Given the description of an element on the screen output the (x, y) to click on. 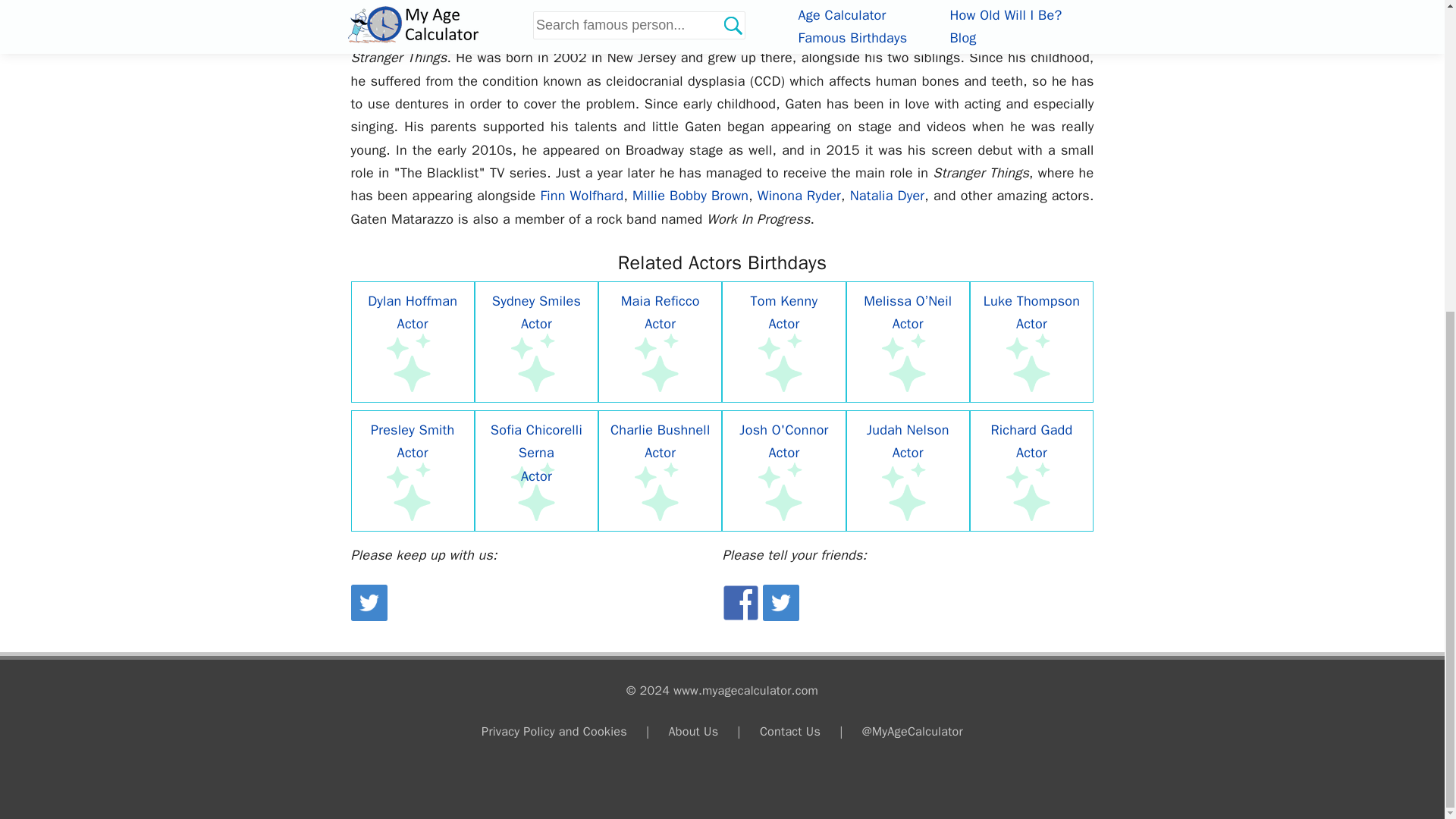
Natalia Dyer (887, 195)
About Us (692, 731)
My Age Calculator Twitter (368, 616)
Contact Us (790, 731)
Finn Wolfhard (581, 195)
Millie Bobby Brown (689, 195)
Privacy Policy and Cookies (554, 731)
Winona Ryder (799, 195)
